Given the description of an element on the screen output the (x, y) to click on. 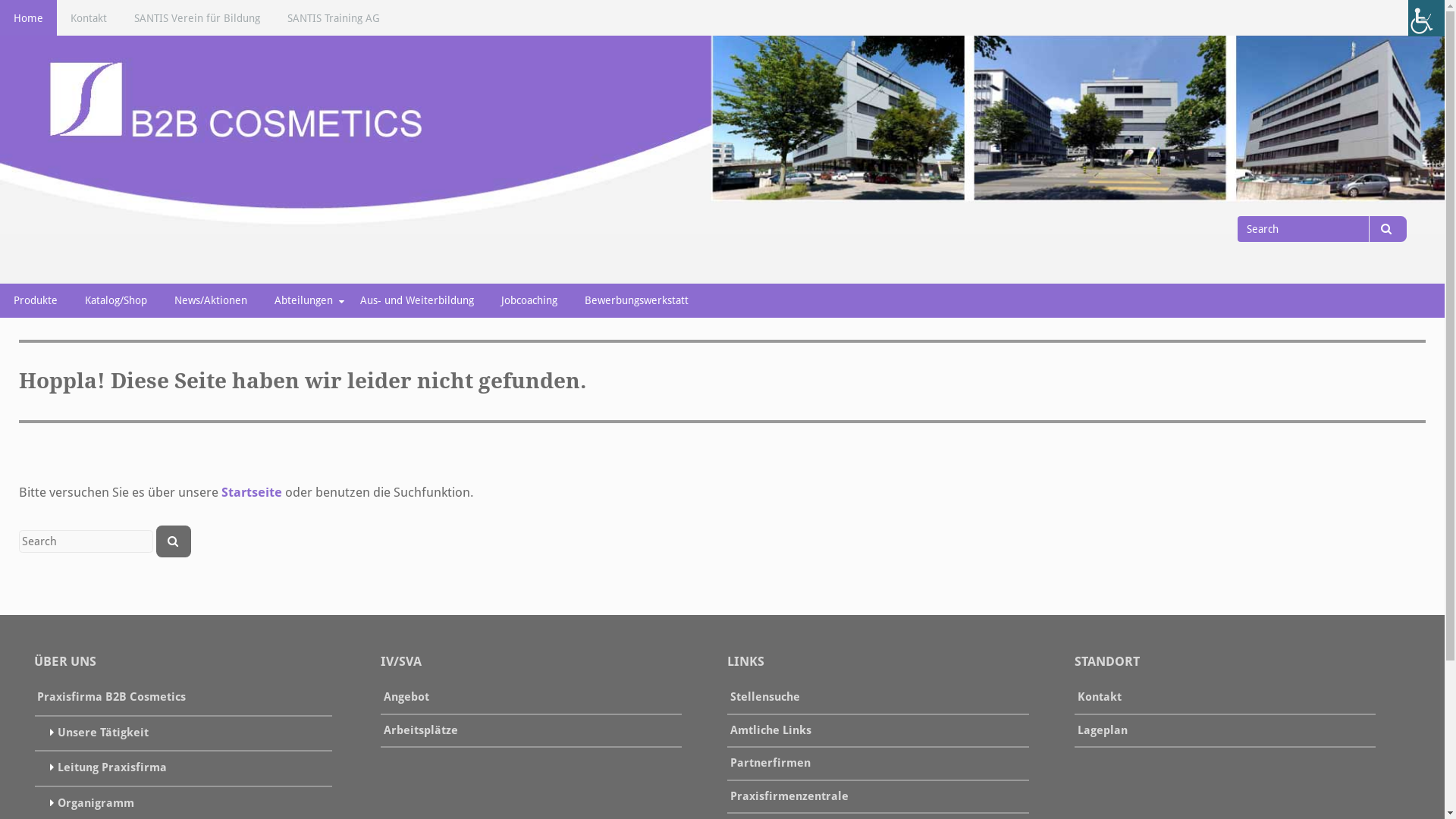
Organigramm Element type: text (95, 804)
Lageplan Element type: text (1102, 731)
Accessibility Helper sidebar Element type: hover (1426, 18)
Katalog/Shop Element type: text (115, 300)
Praxisfirmenzentrale Element type: text (789, 797)
Aus- und Weiterbildung Element type: text (416, 300)
Bewerbungswerkstatt Element type: text (636, 300)
Partnerfirmen Element type: text (770, 764)
Kontakt Element type: text (1099, 698)
Angebot Element type: text (406, 698)
Praxisfirma B2B Cosmetics Element type: text (197, 244)
SANTIS Training AG Element type: text (333, 17)
Stellensuche Element type: text (765, 698)
Abteilungen Element type: text (303, 300)
Produkte Element type: text (35, 300)
Search Element type: text (1387, 229)
Amtliche Links Element type: text (770, 731)
Kontakt Element type: text (88, 17)
Leitung Praxisfirma Element type: text (111, 768)
Startseite Element type: text (251, 493)
Jobcoaching Element type: text (529, 300)
Home Element type: text (28, 17)
Search Element type: text (173, 541)
Praxisfirma B2B Cosmetics Element type: text (111, 698)
News/Aktionen Element type: text (210, 300)
